Given the description of an element on the screen output the (x, y) to click on. 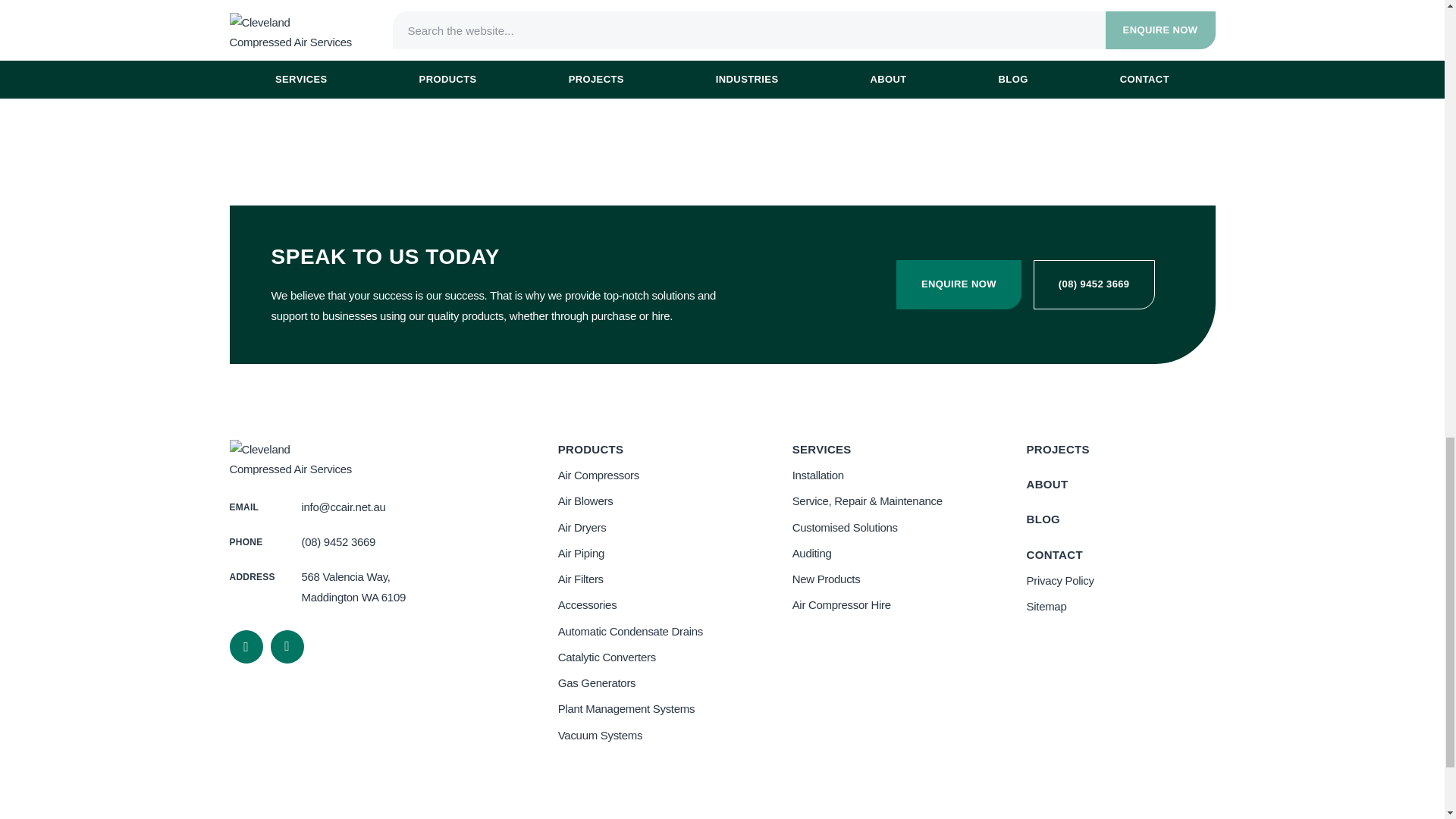
Cleveland Compressed Air Services (290, 457)
